Given the description of an element on the screen output the (x, y) to click on. 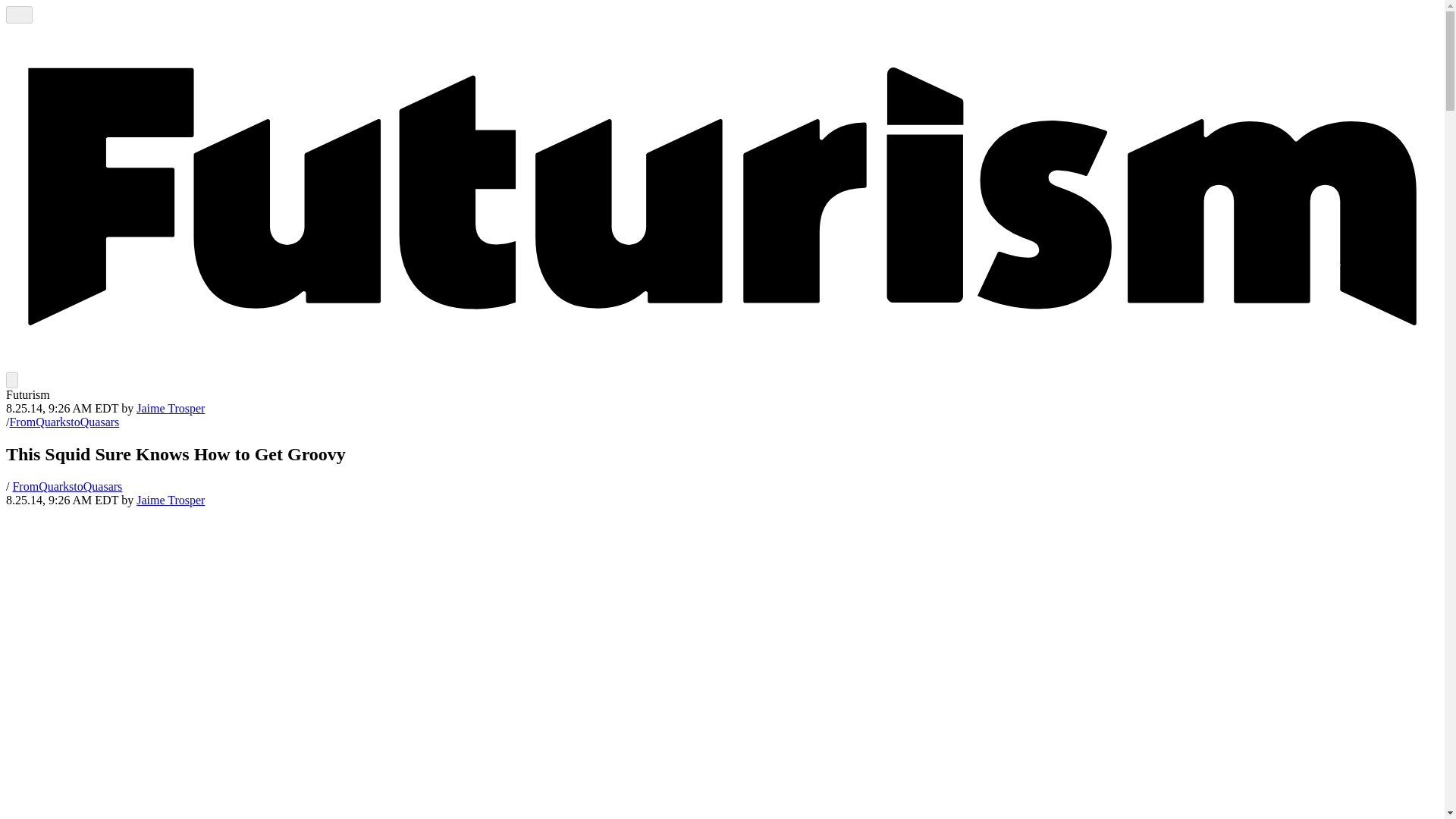
Jaime Trosper (170, 408)
FromQuarkstoQuasars (66, 486)
FromQuarkstoQuasars (63, 421)
FromQuarkstoQuasars (66, 486)
FromQuarkstoQuasars (63, 421)
Jaime Trosper (170, 499)
Jaime Trosper (170, 408)
Jaime Trosper (170, 499)
